Given the description of an element on the screen output the (x, y) to click on. 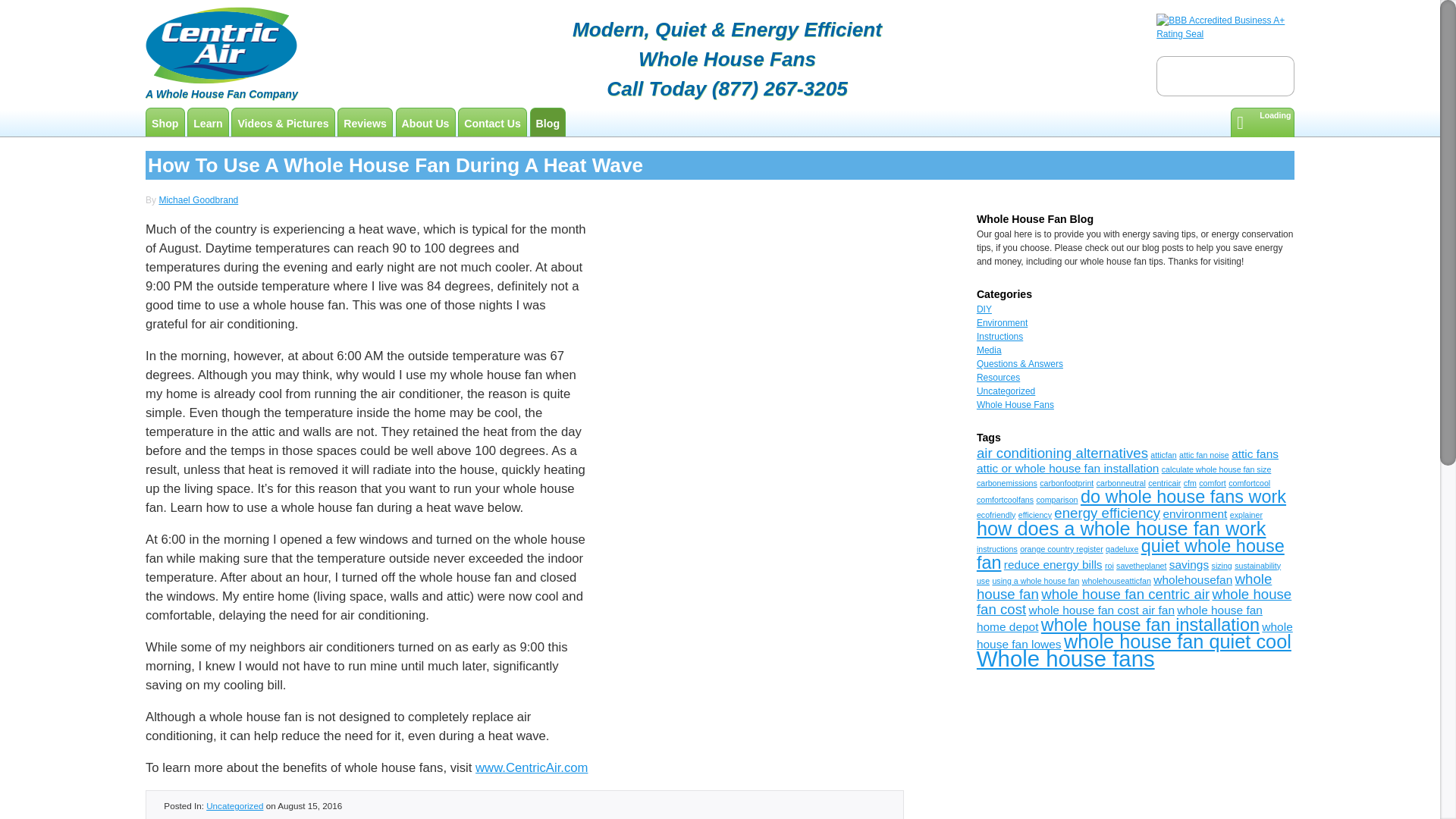
Rate Us on Yelp (1225, 76)
Contact Us (491, 123)
Shop (165, 123)
Environment (1001, 322)
Michael Goodbrand (198, 199)
Instructions (999, 336)
Blog (548, 123)
Loading (1262, 122)
Reviews (364, 123)
Media (988, 349)
DIY (983, 308)
Learn (207, 123)
About Us (425, 123)
Uncategorized (234, 805)
www.CentricAir.com (532, 767)
